Given the description of an element on the screen output the (x, y) to click on. 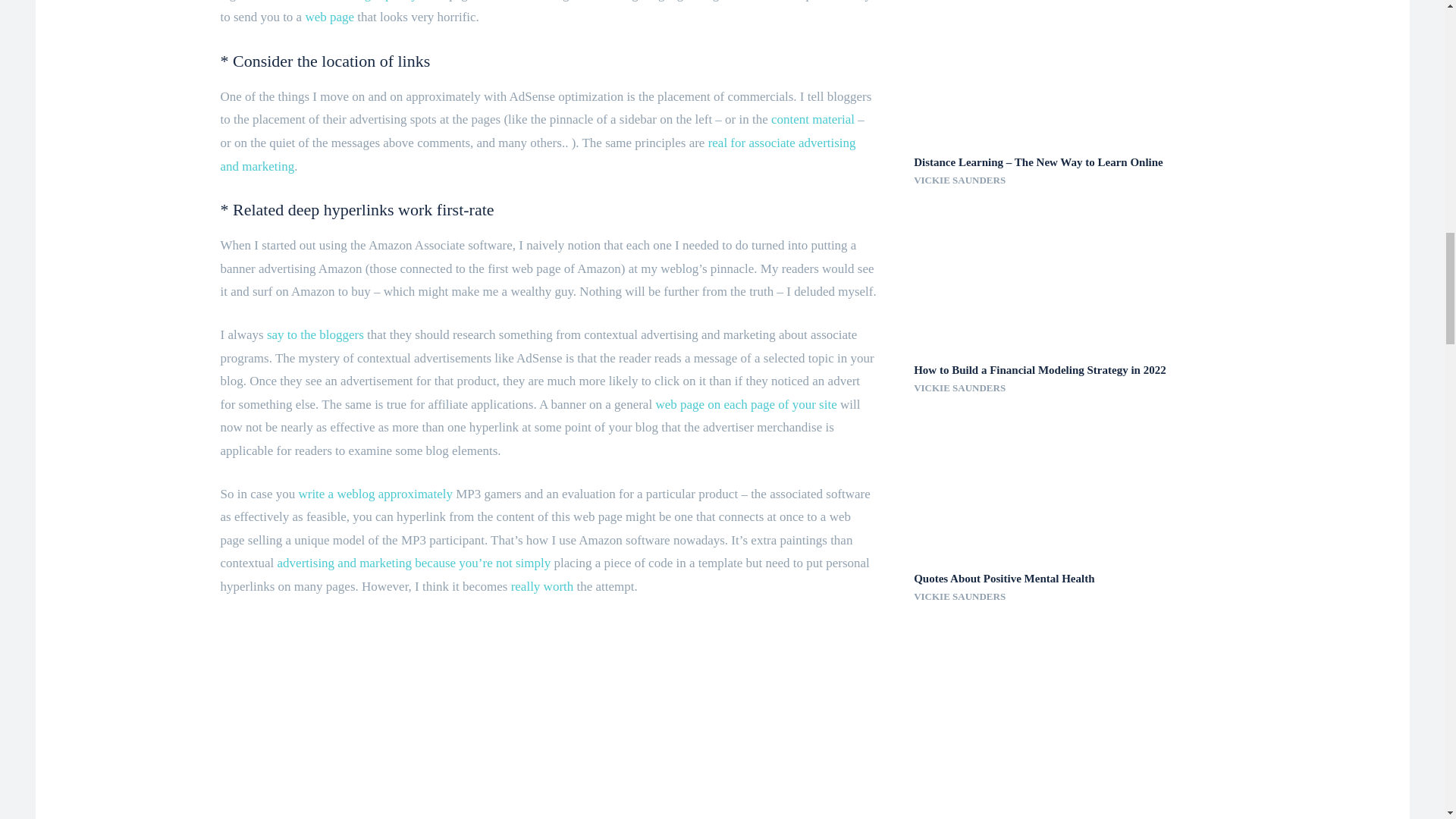
Some Tips for Affiliate Programs in Your Blog 2 (548, 719)
